Given the description of an element on the screen output the (x, y) to click on. 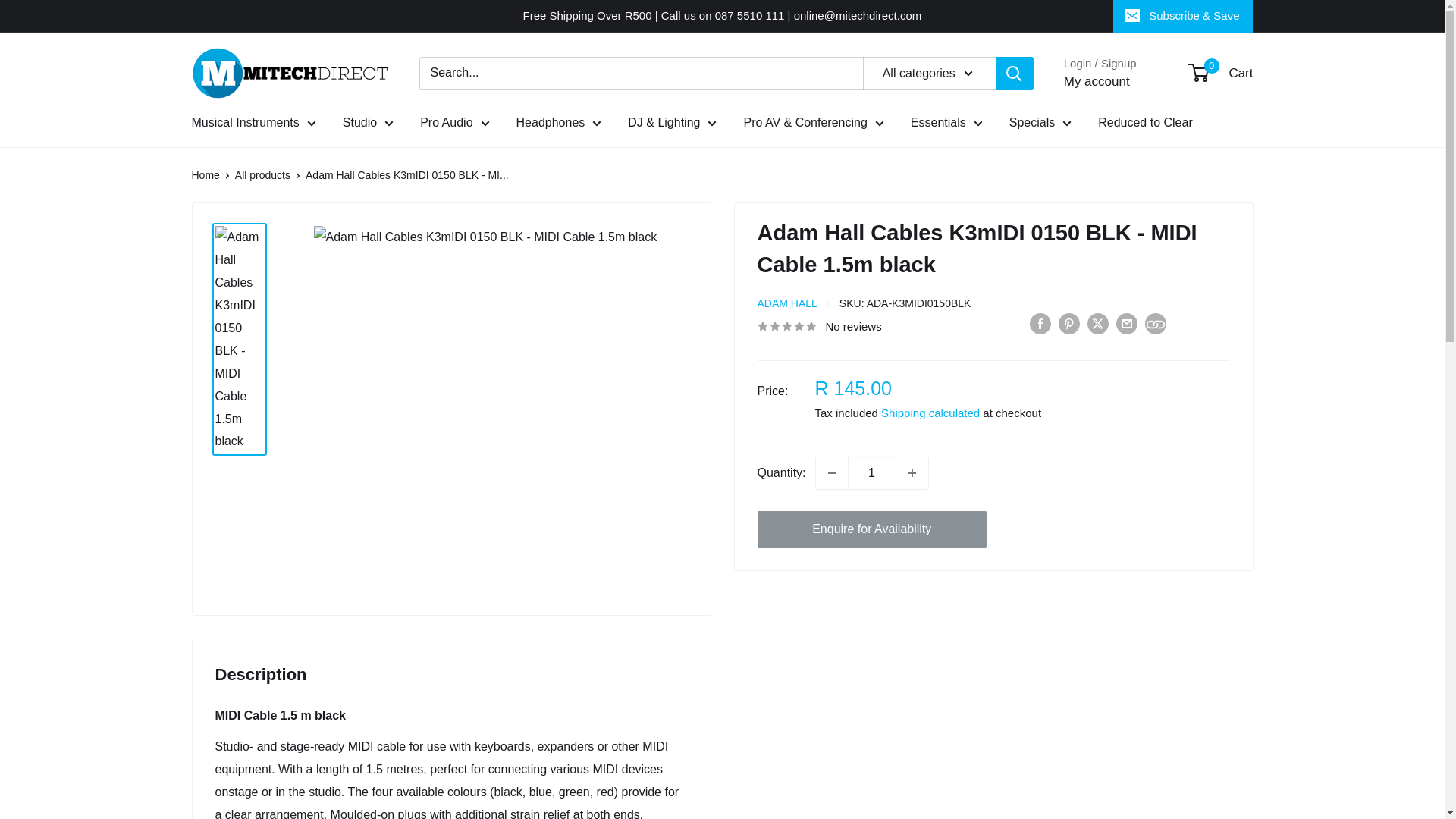
1 (871, 472)
Increase quantity by 1 (912, 472)
Decrease quantity by 1 (831, 472)
